Given the description of an element on the screen output the (x, y) to click on. 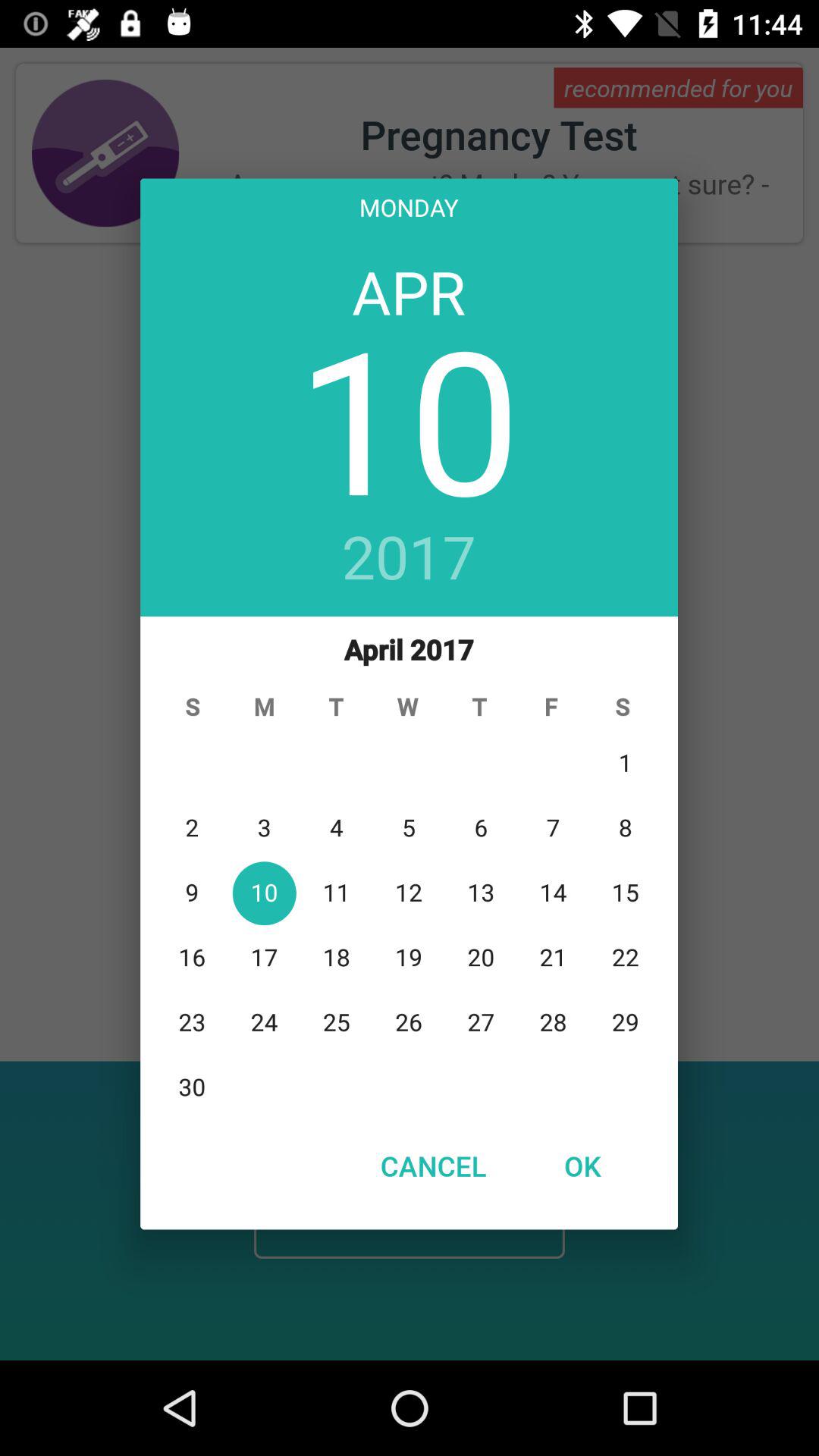
turn off item at the bottom (433, 1165)
